Given the description of an element on the screen output the (x, y) to click on. 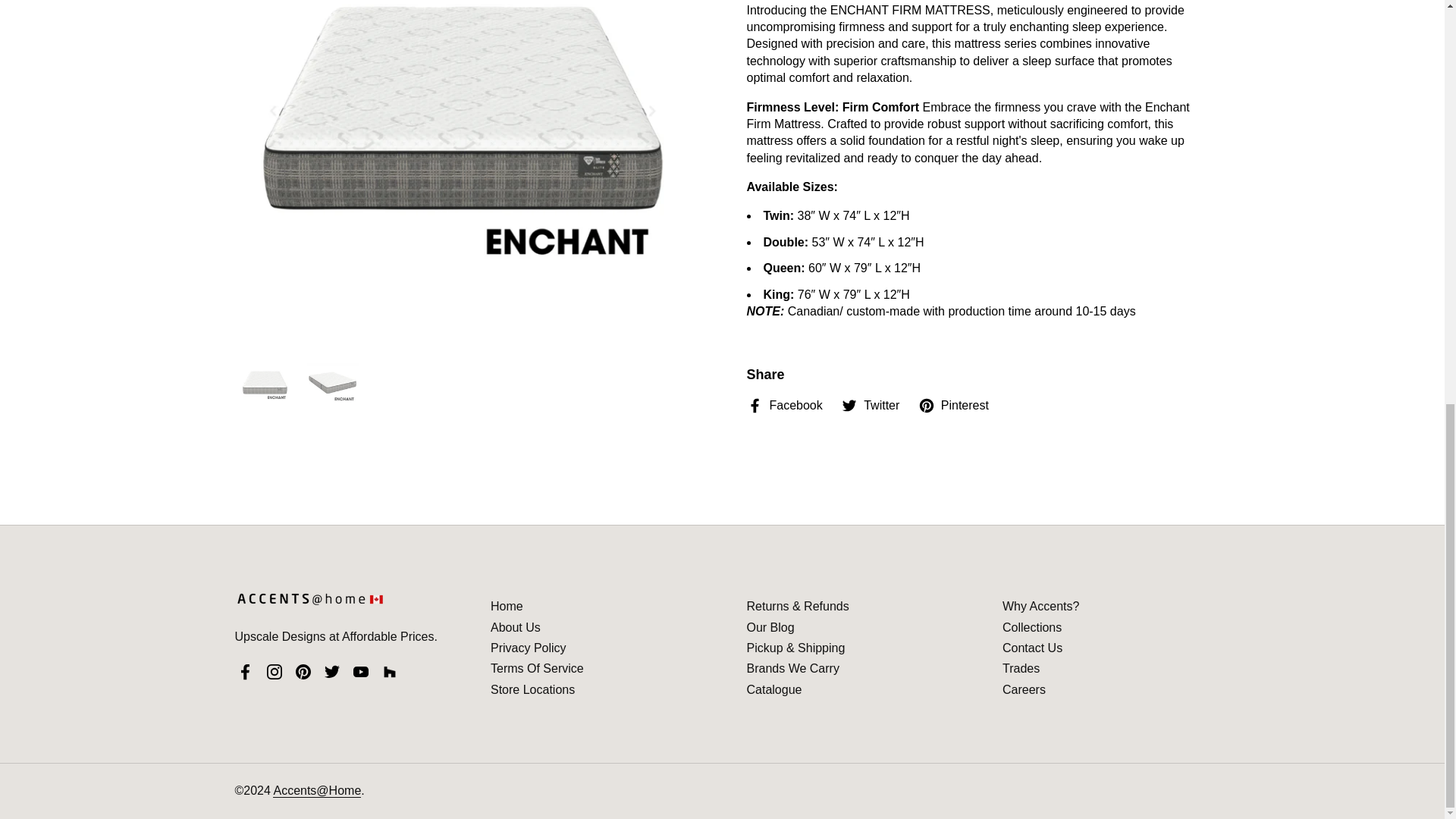
Share on facebook (783, 405)
Share on twitter (870, 405)
Share on pinterest (953, 405)
